Given the description of an element on the screen output the (x, y) to click on. 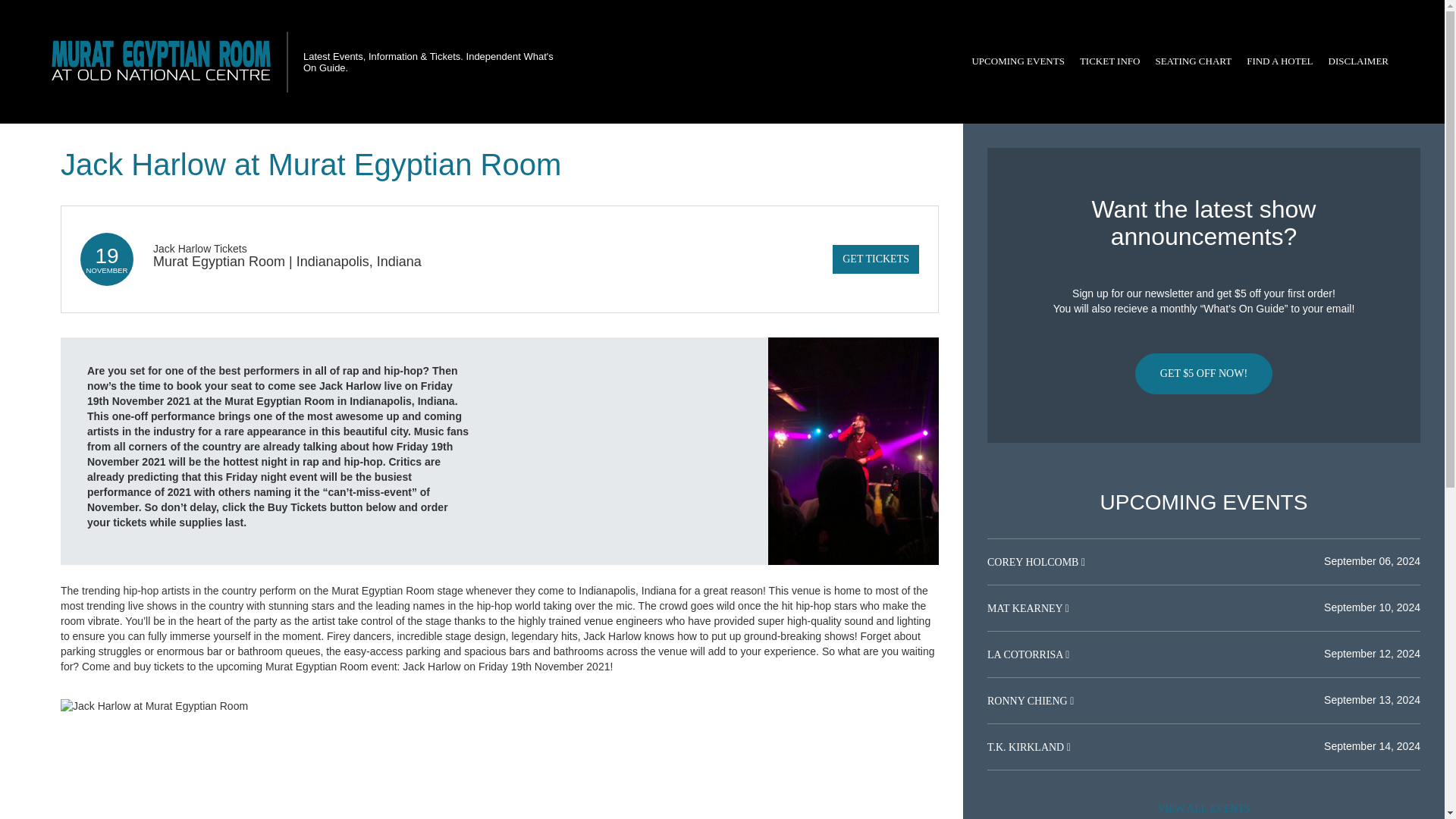
UPCOMING EVENTS (1017, 61)
GET TICKETS (875, 258)
SEATING CHART (1193, 61)
RONNY CHIENG (1028, 700)
TICKET INFO (1109, 61)
T.K. KIRKLAND (1027, 747)
DISCLAIMER (1358, 61)
FIND A HOTEL (1279, 61)
Jack Harlow at Murat Egyptian Room tickets (500, 706)
Jack Harlow Tickets (199, 248)
